Given the description of an element on the screen output the (x, y) to click on. 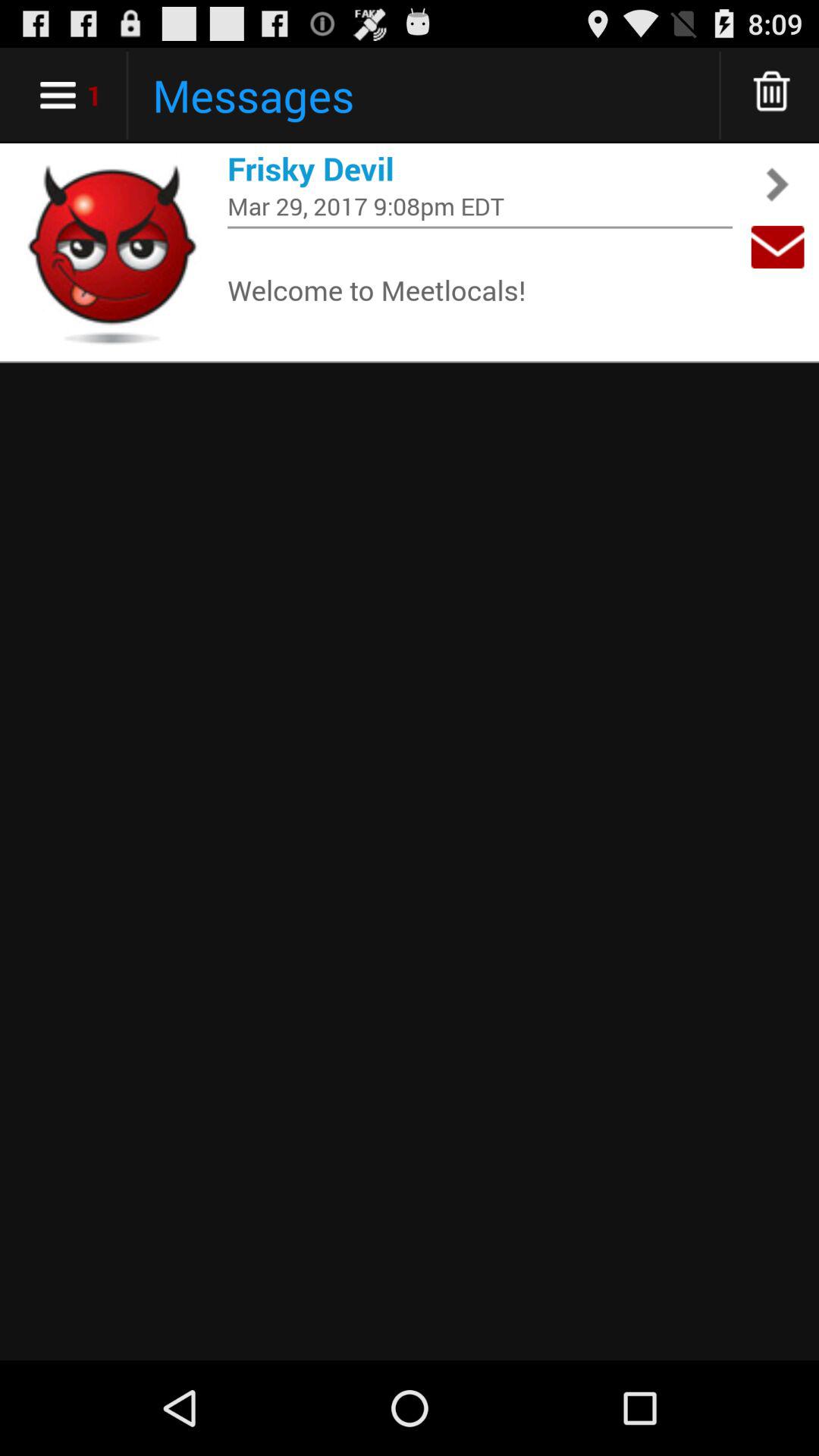
choose app above frisky devil app (772, 95)
